Given the description of an element on the screen output the (x, y) to click on. 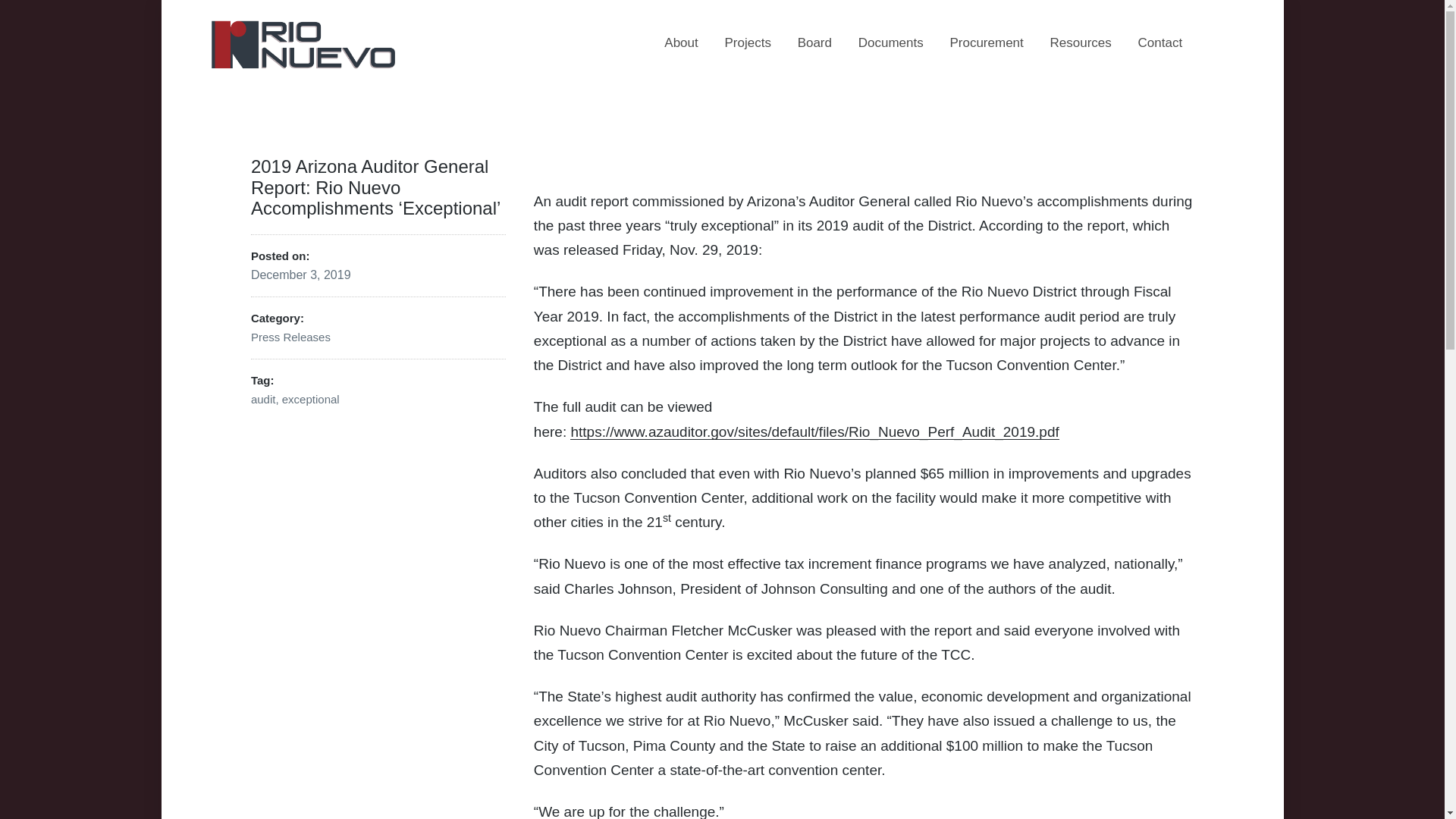
About (680, 43)
